Given the description of an element on the screen output the (x, y) to click on. 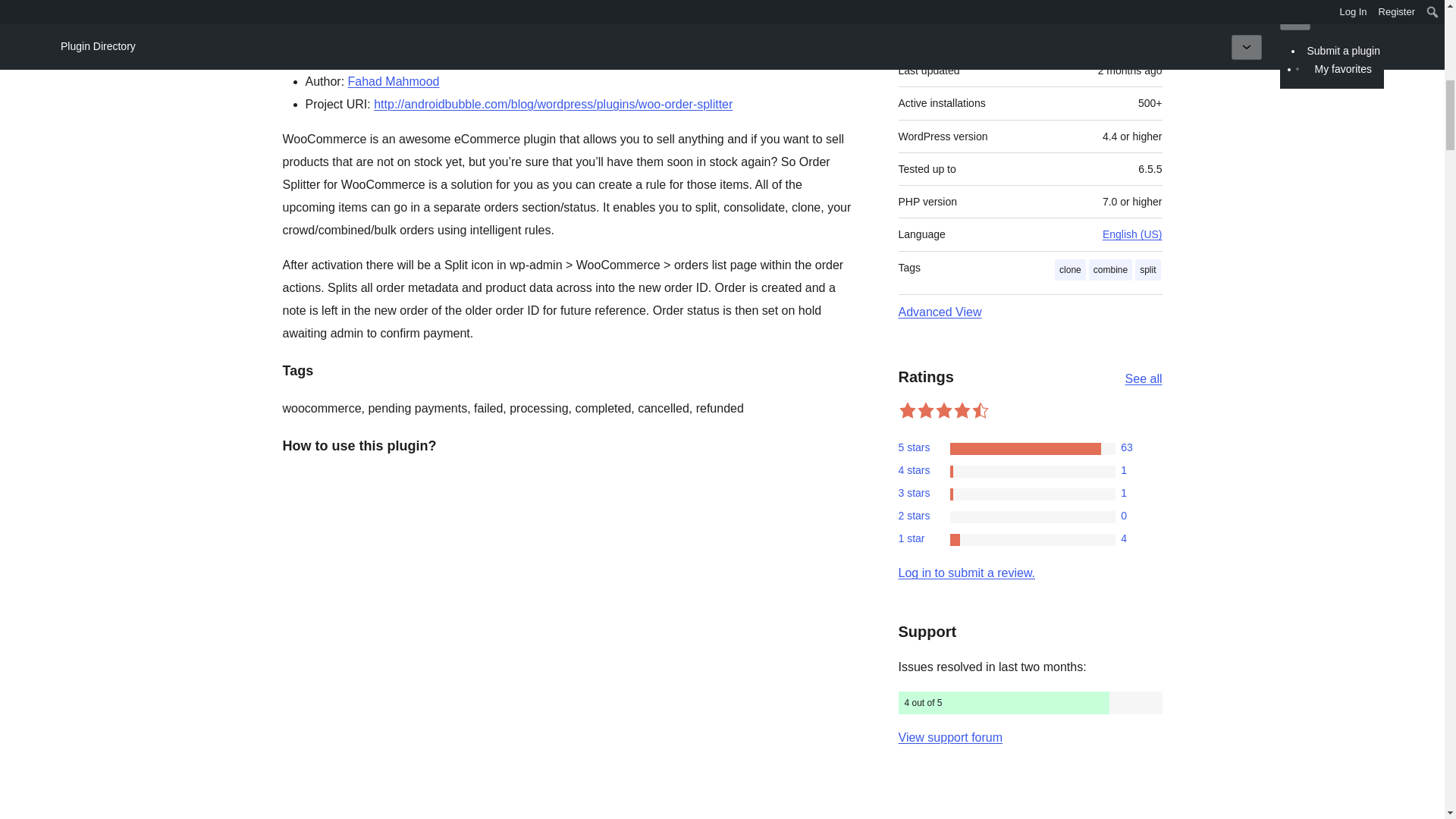
Log in to WordPress.org (966, 572)
Fahad Mahmood (393, 81)
